Given the description of an element on the screen output the (x, y) to click on. 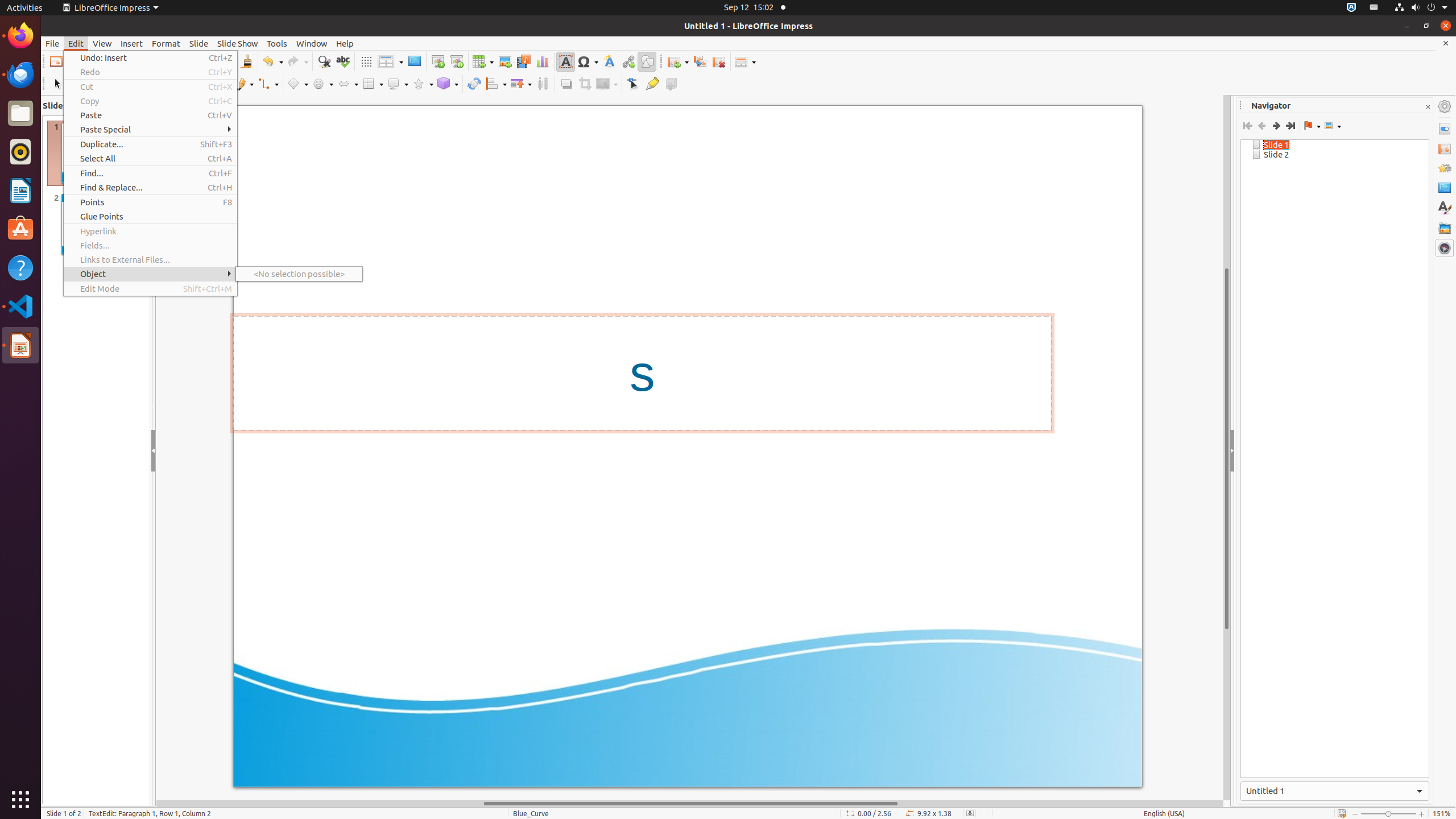
Previous Slide Element type: push-button (1261, 125)
Edit Element type: menu (75, 43)
Links to External Files... Element type: menu-item (150, 259)
Properties Element type: radio-button (1444, 128)
Paste Element type: menu-item (150, 115)
